Given the description of an element on the screen output the (x, y) to click on. 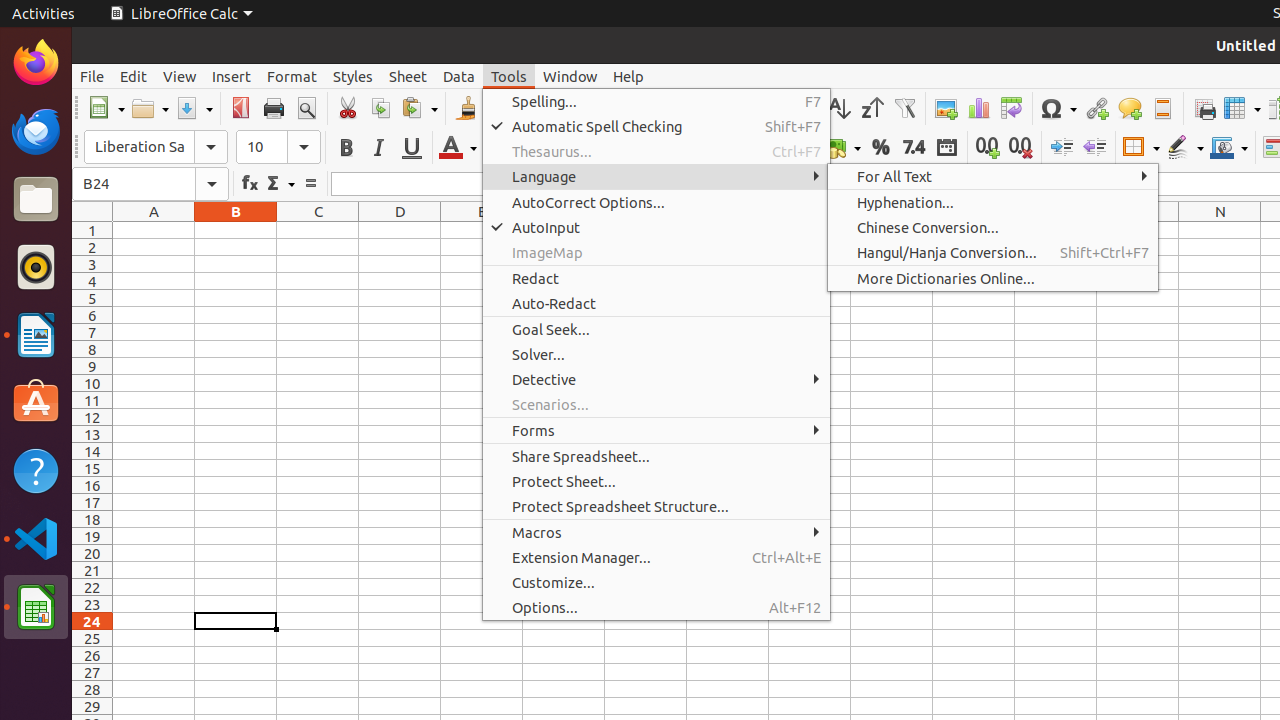
Data Element type: menu (459, 76)
Paste Element type: push-button (419, 108)
Freeze Rows and Columns Element type: push-button (1242, 108)
D1 Element type: table-cell (400, 230)
For All Text Element type: menu (993, 176)
